Given the description of an element on the screen output the (x, y) to click on. 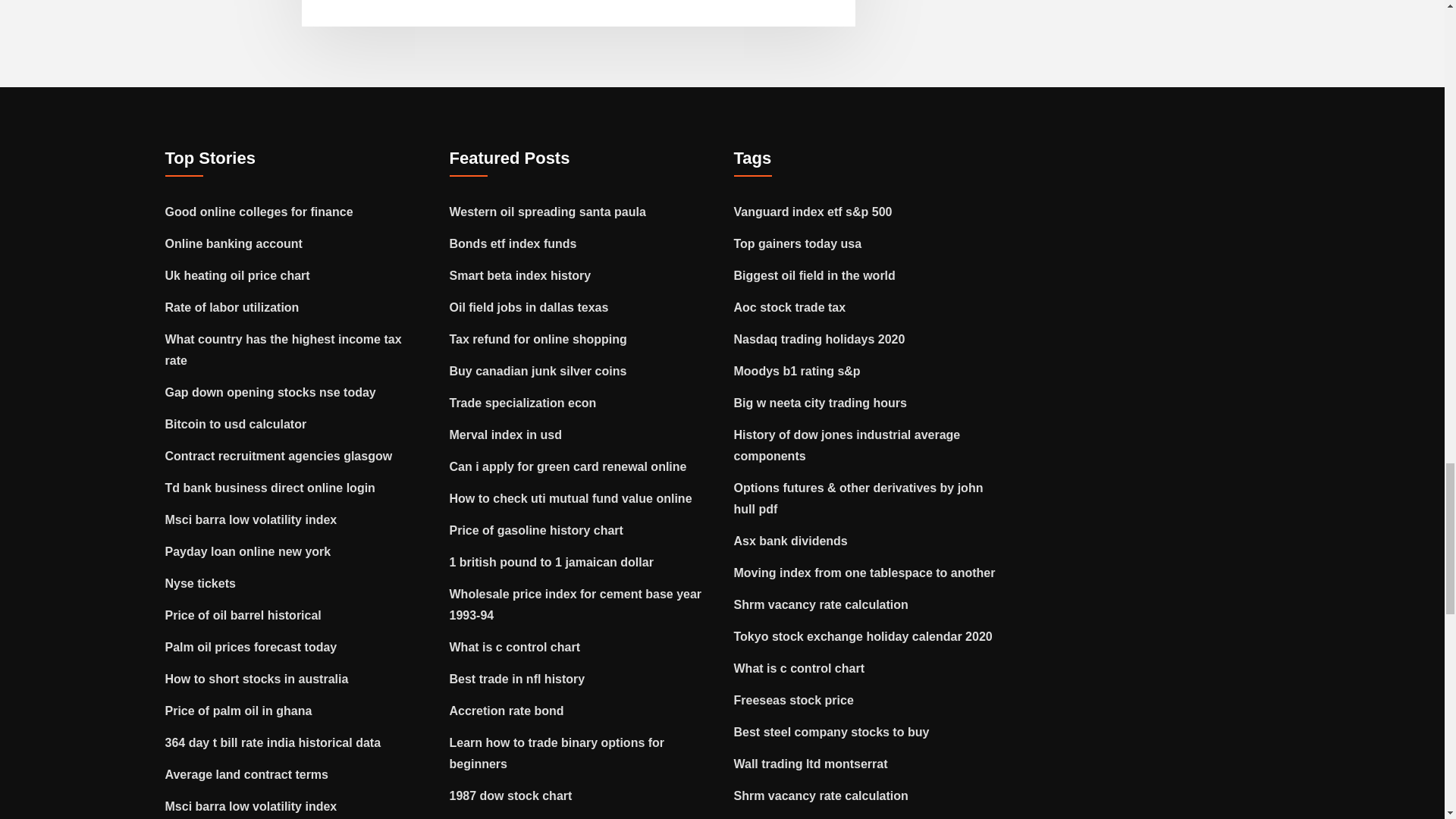
Good online colleges for finance (259, 211)
Average land contract terms (247, 774)
Palm oil prices forecast today (251, 646)
What country has the highest income tax rate (283, 349)
Msci barra low volatility index (251, 519)
Td bank business direct online login (270, 487)
How to short stocks in australia (257, 678)
Gap down opening stocks nse today (270, 391)
364 day t bill rate india historical data (273, 742)
Price of oil barrel historical (243, 615)
